Given the description of an element on the screen output the (x, y) to click on. 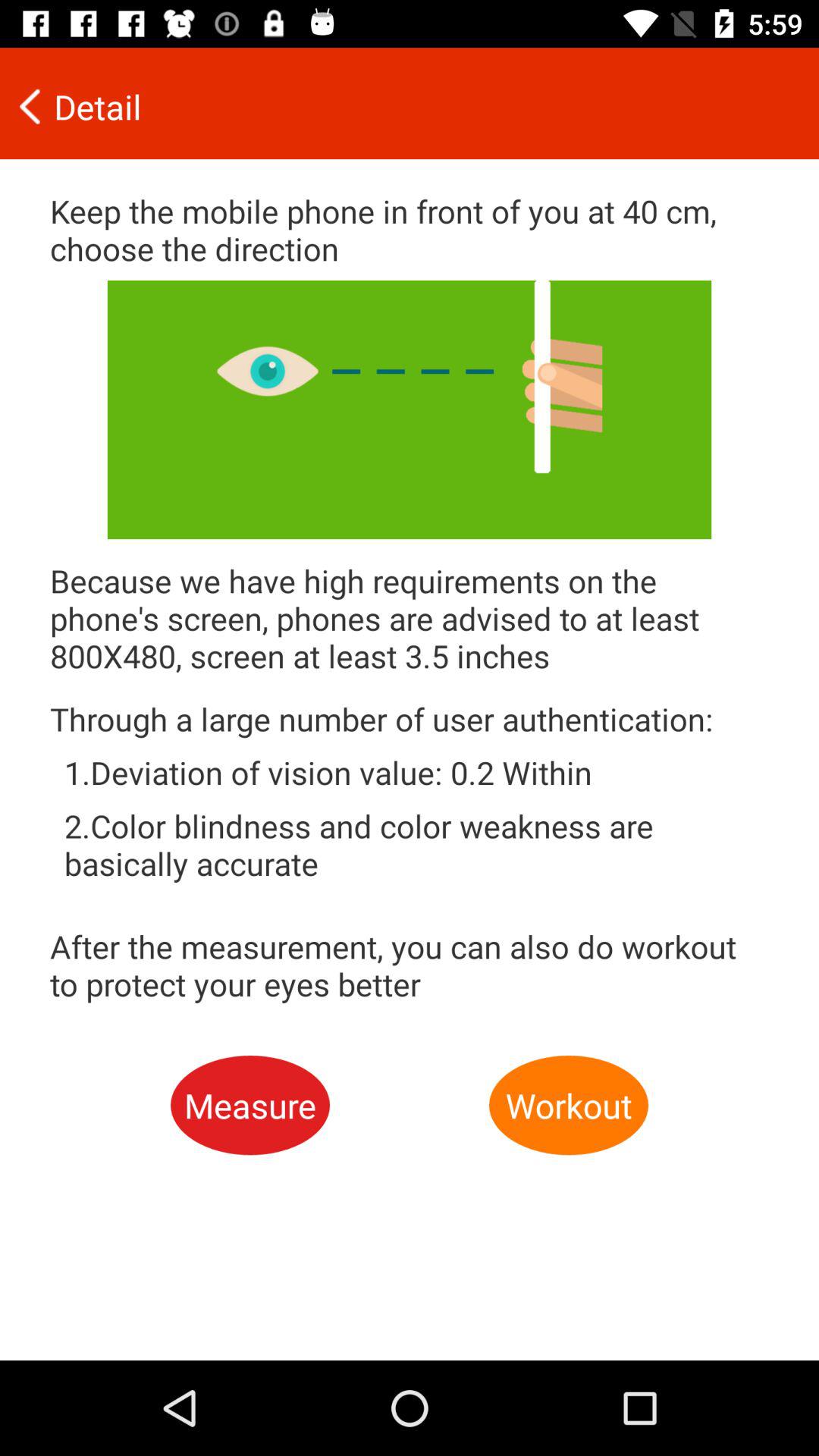
launch measure (249, 1105)
